Given the description of an element on the screen output the (x, y) to click on. 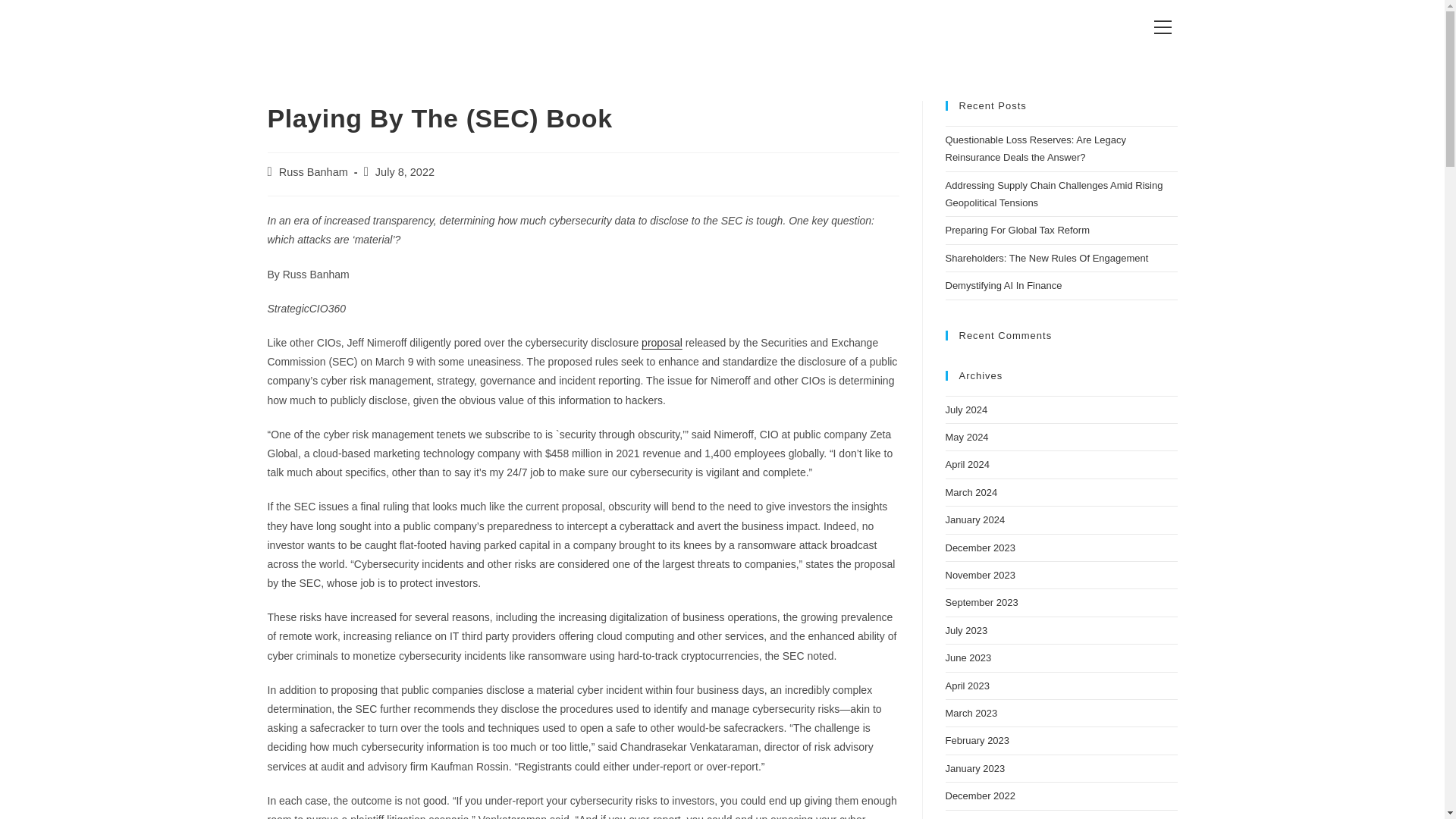
April 2024 (967, 464)
March 2024 (970, 491)
January 2024 (974, 519)
May 2024 (966, 437)
Demystifying AI In Finance (1002, 285)
Preparing For Global Tax Reform (1016, 229)
December 2023 (979, 547)
Posts by Russ Banham (313, 172)
Russ Banham (313, 172)
